Given the description of an element on the screen output the (x, y) to click on. 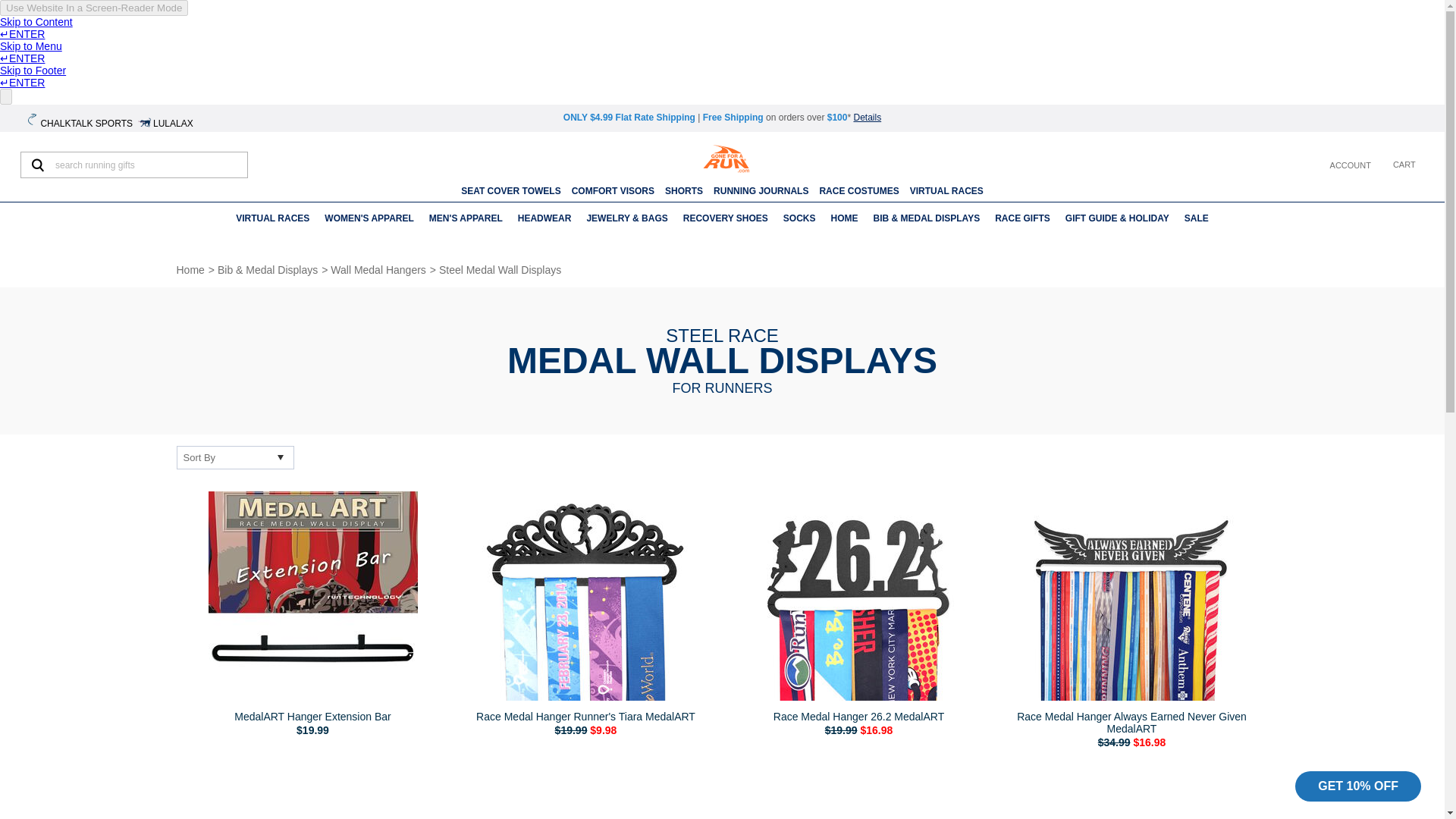
LULALAX (166, 121)
VIRTUAL RACES (947, 190)
SHORTS (684, 190)
ACCOUNT (1348, 164)
COMFORT VISORS (612, 190)
go (37, 164)
VIRTUAL RACES (272, 218)
RUNNING JOURNALS (760, 190)
SEAT COVER TOWELS (510, 190)
go (37, 164)
go (37, 164)
Details (866, 117)
CHALKTALK SPORTS (80, 121)
RACE COSTUMES (858, 190)
